Given the description of an element on the screen output the (x, y) to click on. 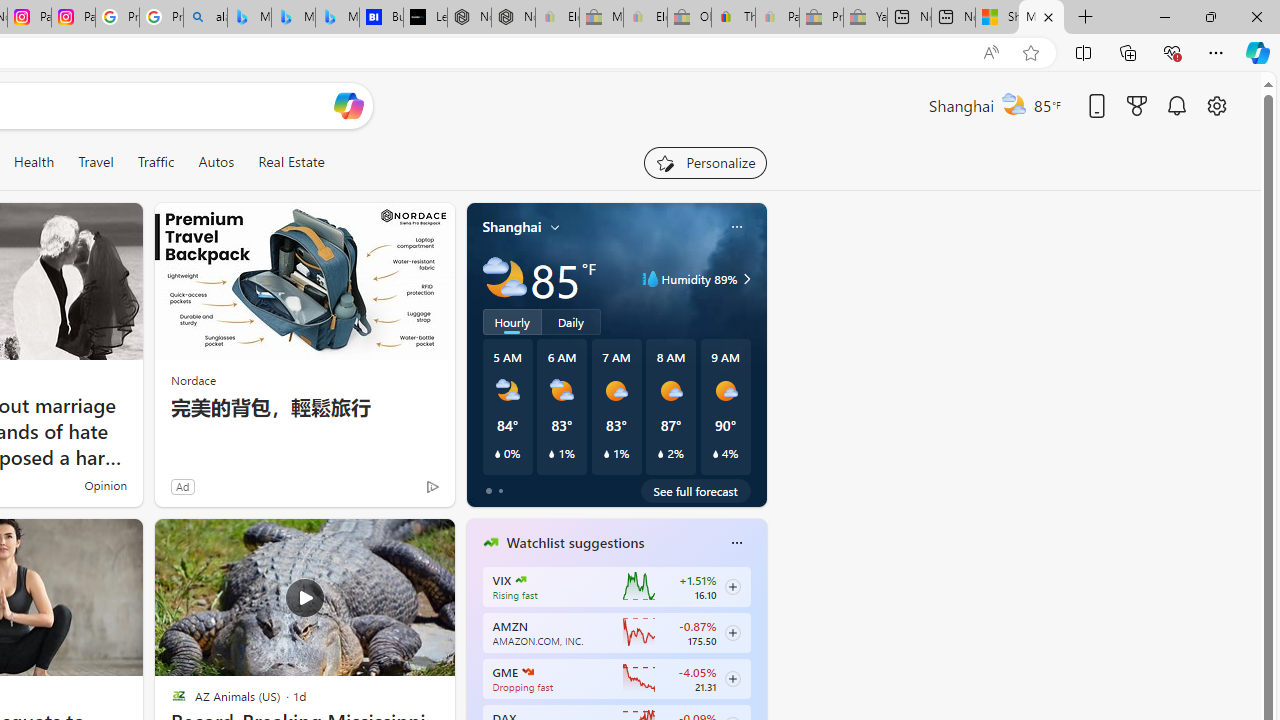
Class: follow-button  m (732, 678)
tab-0 (488, 490)
previous (476, 670)
Payments Terms of Use | eBay.com - Sleeping (777, 17)
Threats and offensive language policy | eBay (733, 17)
Class: weather-current-precipitation-glyph (715, 453)
